Given the description of an element on the screen output the (x, y) to click on. 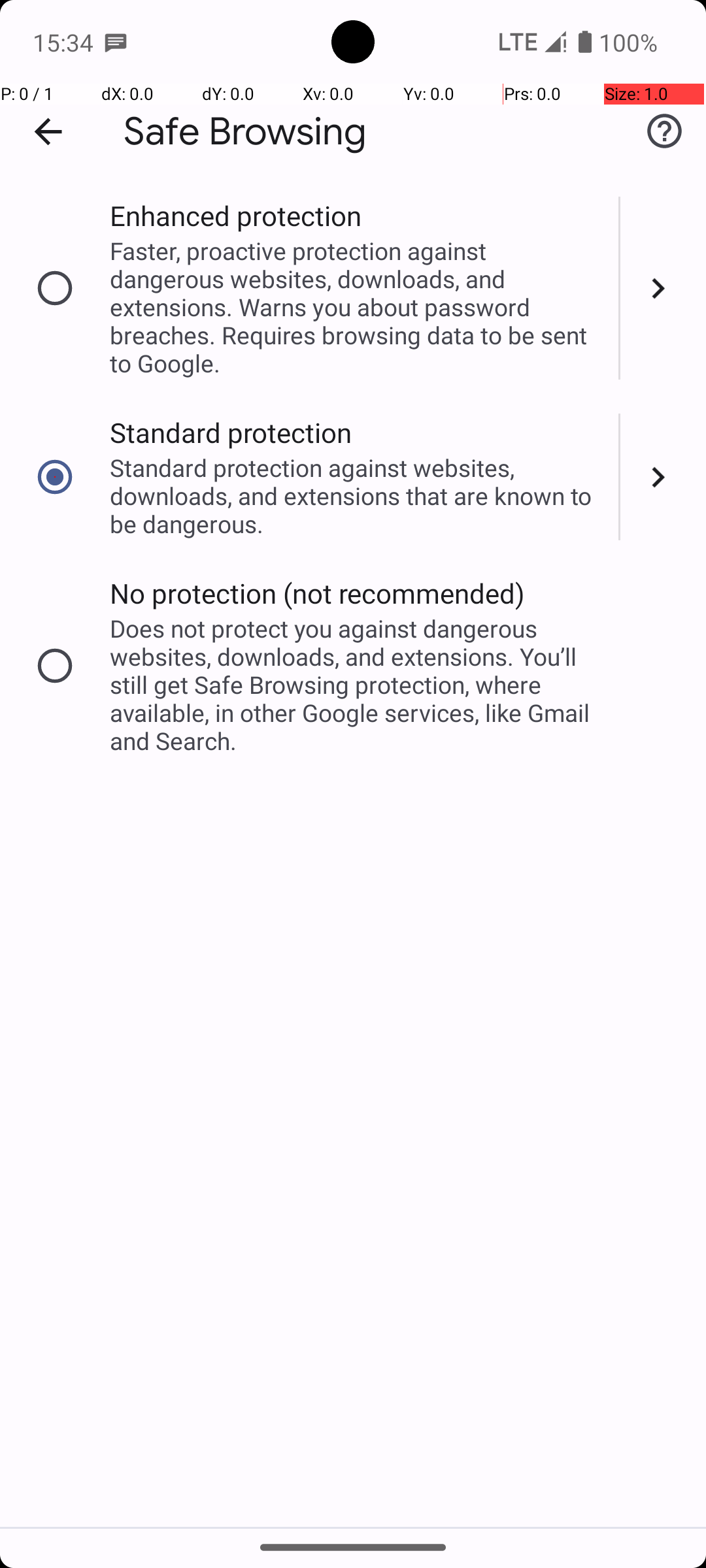
Safe Browsing Element type: android.widget.TextView (244, 131)
Enhanced protection Element type: android.widget.TextView (235, 214)
Faster, proactive protection against dangerous websites, downloads, and extensions. Warns you about password breaches. Requires browsing data to be sent to Google. Element type: android.widget.TextView (355, 306)
Standard protection Element type: android.widget.TextView (230, 431)
Standard protection against websites, downloads, and extensions that are known to be dangerous. Element type: android.widget.TextView (355, 495)
No protection (not recommended) Element type: android.widget.TextView (317, 592)
Does not protect you against dangerous websites, downloads, and extensions. You’ll still get Safe Browsing protection, where available, in other Google services, like Gmail and Search. Element type: android.widget.TextView (355, 684)
